Given the description of an element on the screen output the (x, y) to click on. 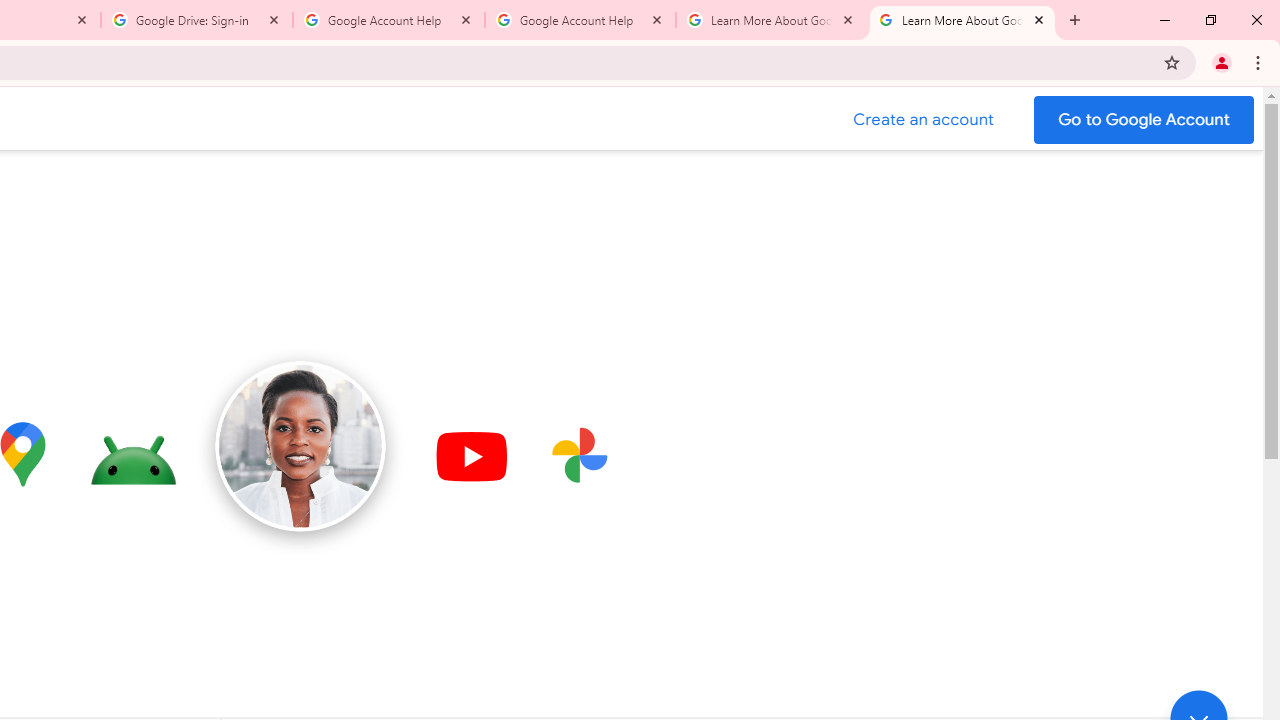
Google Account Help (580, 20)
Go to your Google Account (1144, 119)
Create a Google Account (923, 119)
Google Account Help (389, 20)
Google Drive: Sign-in (197, 20)
